Given the description of an element on the screen output the (x, y) to click on. 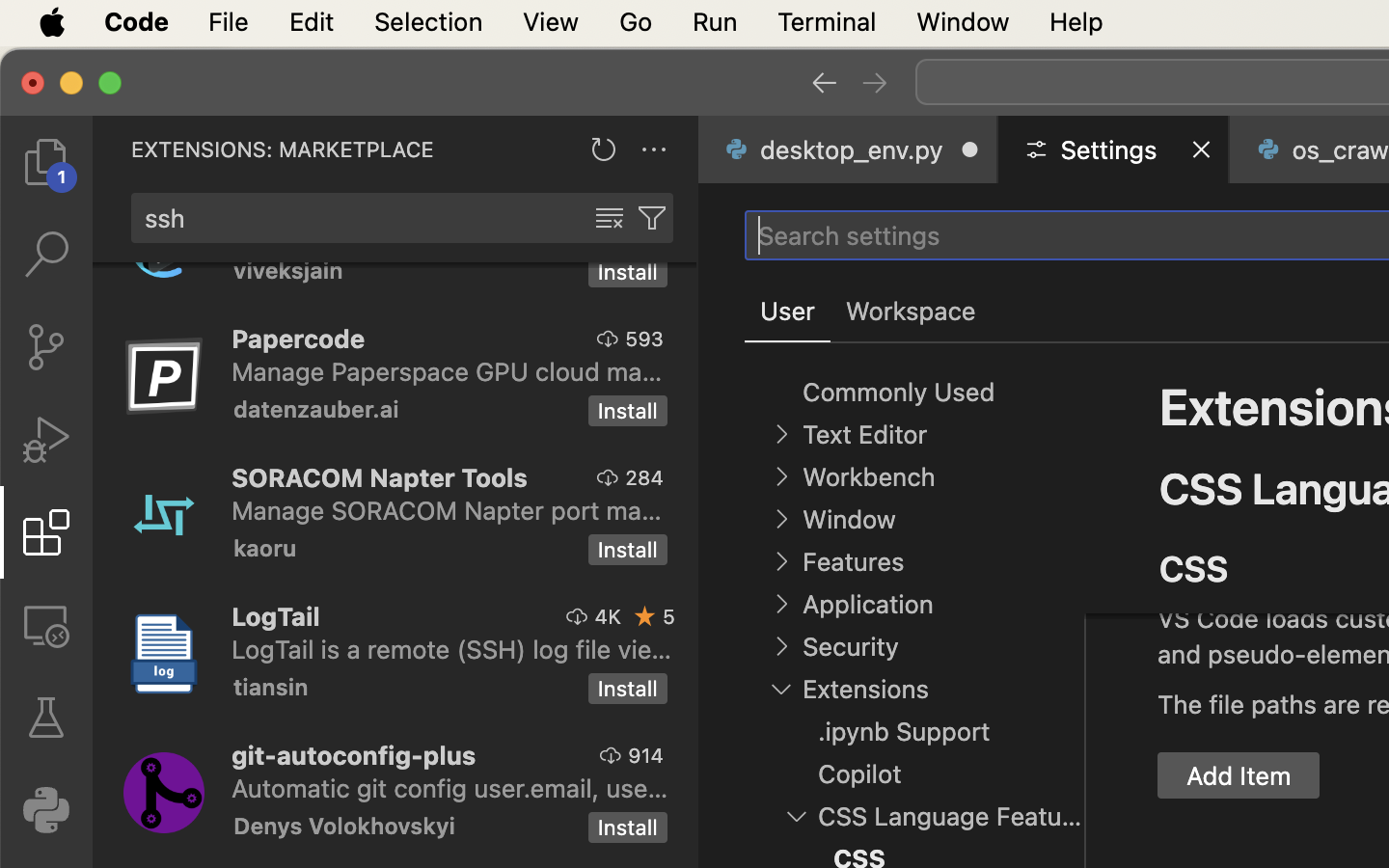
914 Element type: AXStaticText (645, 754)
SORACOM Napter Tools Element type: AXStaticText (379, 476)
Window Element type: AXStaticText (849, 519)
 Element type: AXGroup (46, 254)
datenzauber.ai Element type: AXStaticText (316, 408)
